Given the description of an element on the screen output the (x, y) to click on. 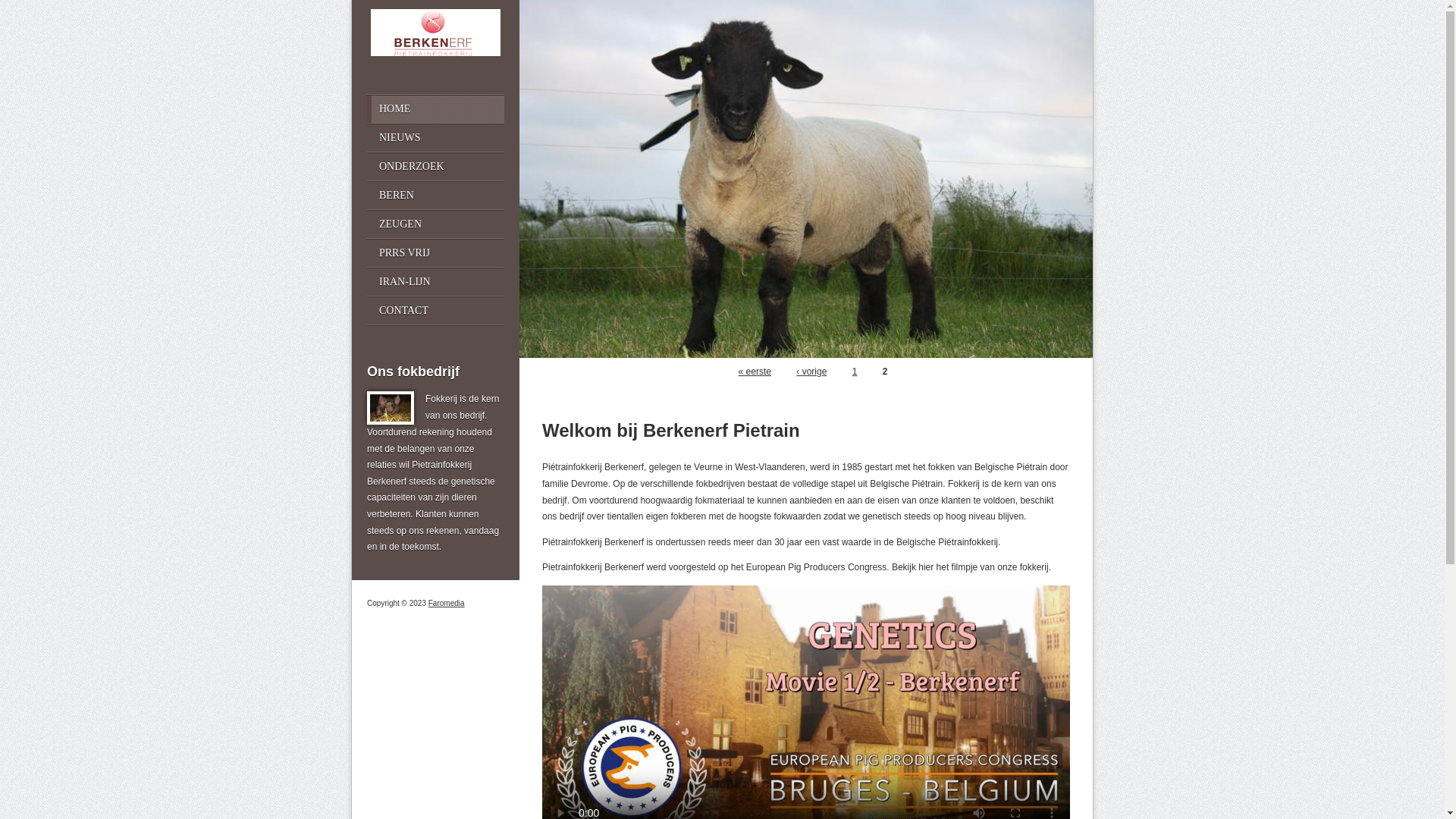
Emmerson Element type: hover (805, 178)
BEREN Element type: text (435, 195)
CONTACT Element type: text (435, 310)
1 Element type: text (854, 371)
NIEUWS Element type: text (435, 137)
Berkenerf Pietrain Element type: hover (435, 52)
ZEUGEN Element type: text (435, 224)
Faromedia Element type: text (446, 603)
IRAN-LIJN Element type: text (435, 281)
ONDERZOEK Element type: text (435, 166)
PRRS VRIJ Element type: text (435, 252)
HOME Element type: text (435, 108)
Overslaan en naar de inhoud gaan Element type: text (70, 0)
